Given the description of an element on the screen output the (x, y) to click on. 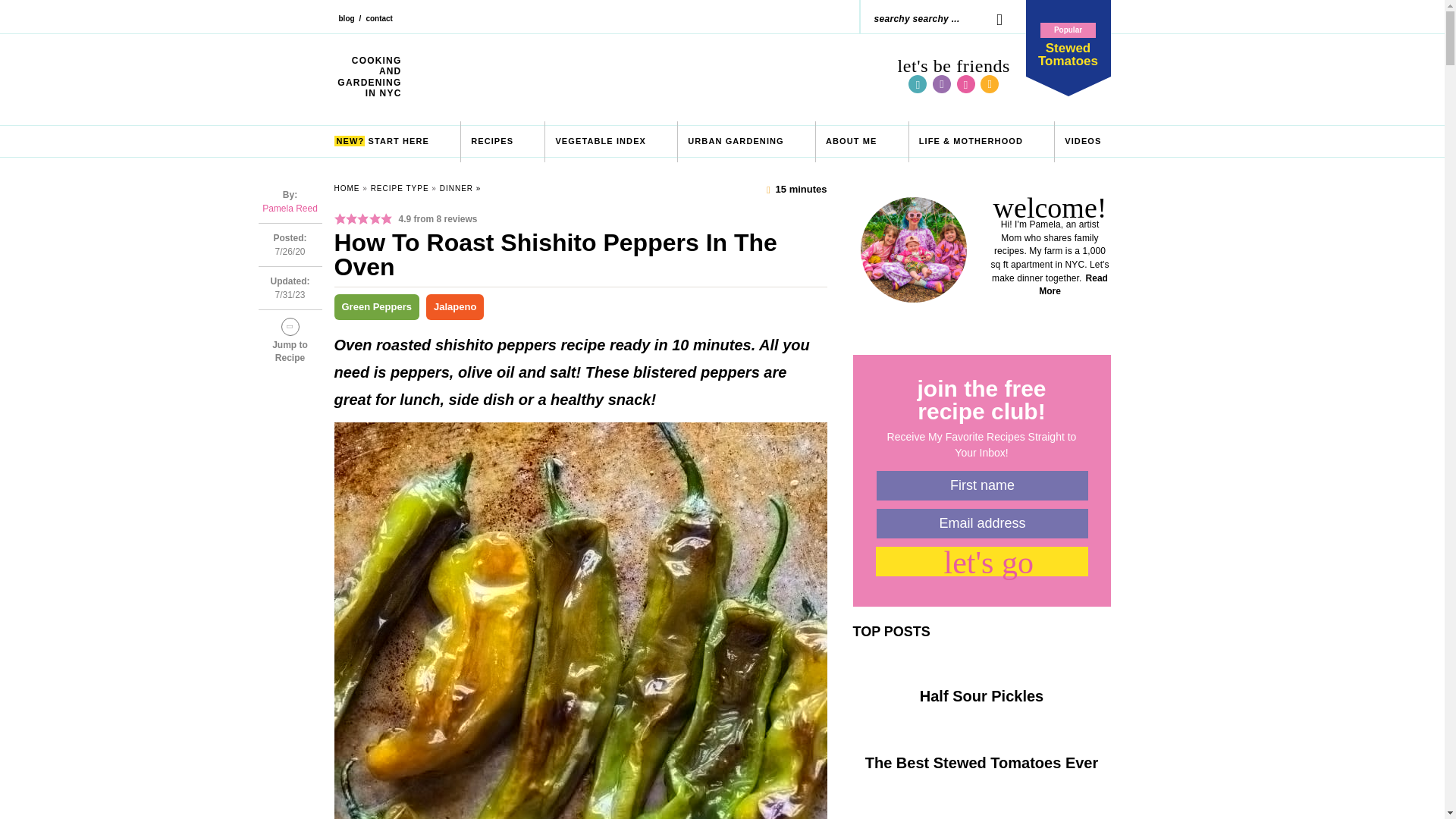
contact (379, 23)
NEW? START HERE (1067, 38)
hey you. (380, 141)
Brooklyn Farm Girl (850, 141)
Search (649, 77)
blog (992, 17)
Search (345, 23)
Search (992, 17)
RECIPES (992, 17)
